Given the description of an element on the screen output the (x, y) to click on. 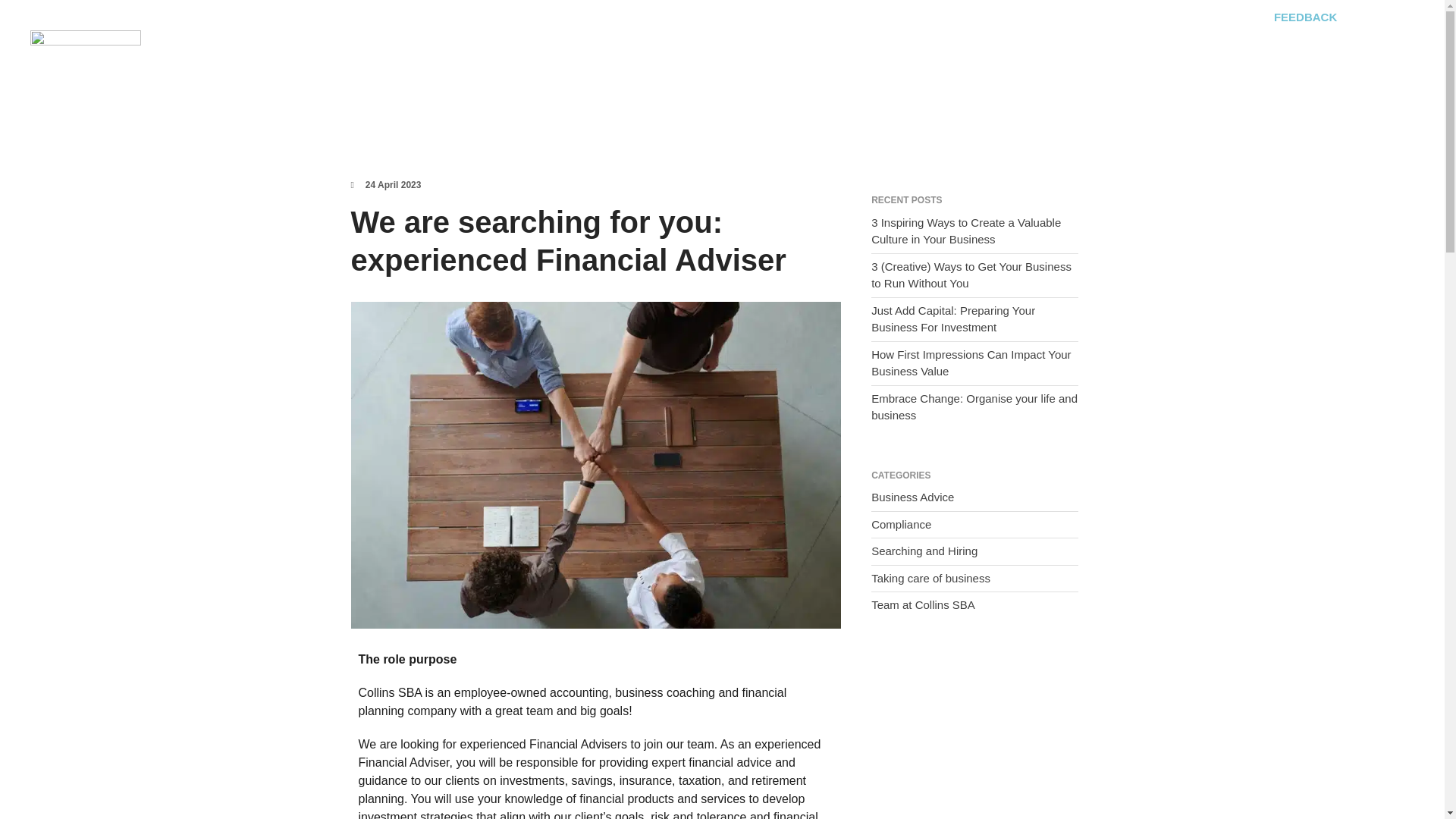
HOME (826, 48)
SOLUTIONS (1134, 48)
1300 265 722 (1378, 16)
FEEDBACK (1308, 16)
ABOUT (1212, 48)
